Given the description of an element on the screen output the (x, y) to click on. 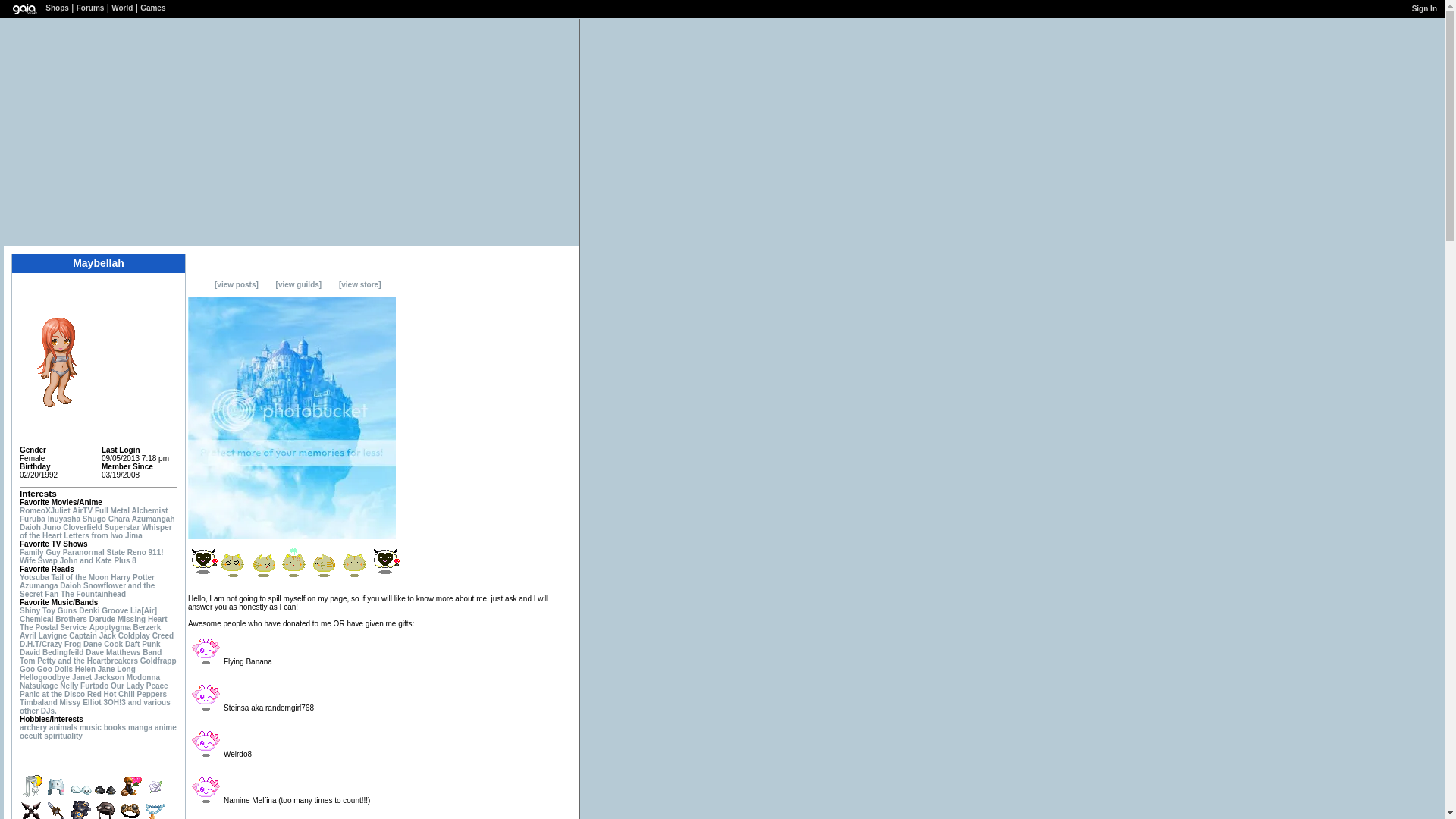
Add to Ignored (155, 288)
Cloverfield (81, 527)
Games (152, 8)
Shiny Toy Guns (48, 610)
Whisper of the Heart (95, 531)
RomeoXJuliet (44, 510)
John and Kate Plus 8 (97, 560)
Letters from Iwo Jima (102, 535)
Azumanga Daioh (50, 585)
Furuba (32, 519)
Add to Ignored (155, 288)
World (122, 8)
Inuyasha (64, 519)
Tail of the Moon (79, 577)
Wife Swap (39, 560)
